Given the description of an element on the screen output the (x, y) to click on. 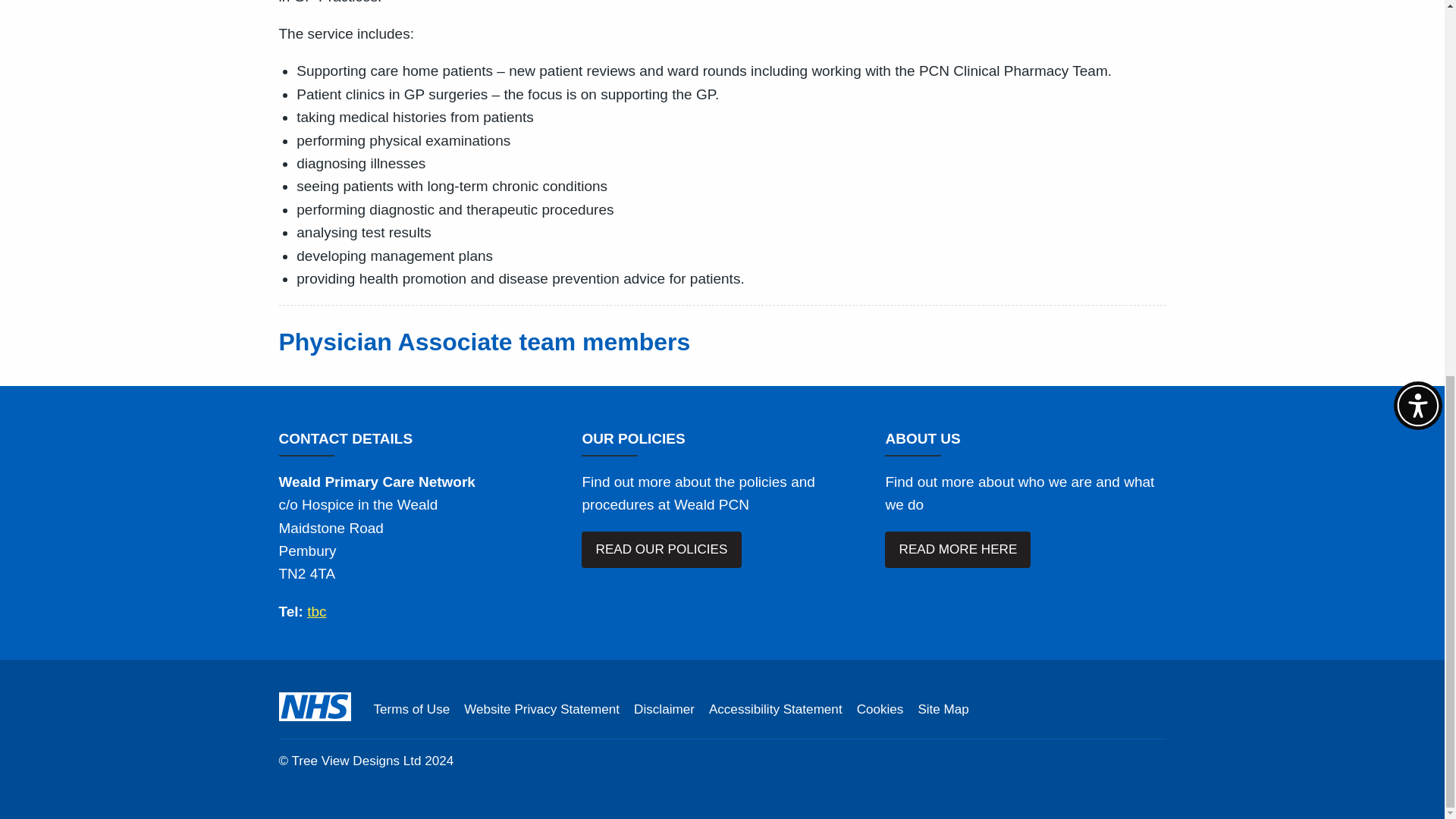
Terms of Use (410, 709)
Physician Associate team members (484, 341)
Site Map (942, 709)
Website Privacy Statement (542, 709)
READ MORE HERE (957, 549)
READ OUR POLICIES (660, 549)
Cookies (880, 709)
Disclaimer (663, 709)
Accessibility Statement (776, 709)
tbc (316, 611)
The NHS Logo (314, 706)
Tree View Designs Ltd (357, 760)
